Given the description of an element on the screen output the (x, y) to click on. 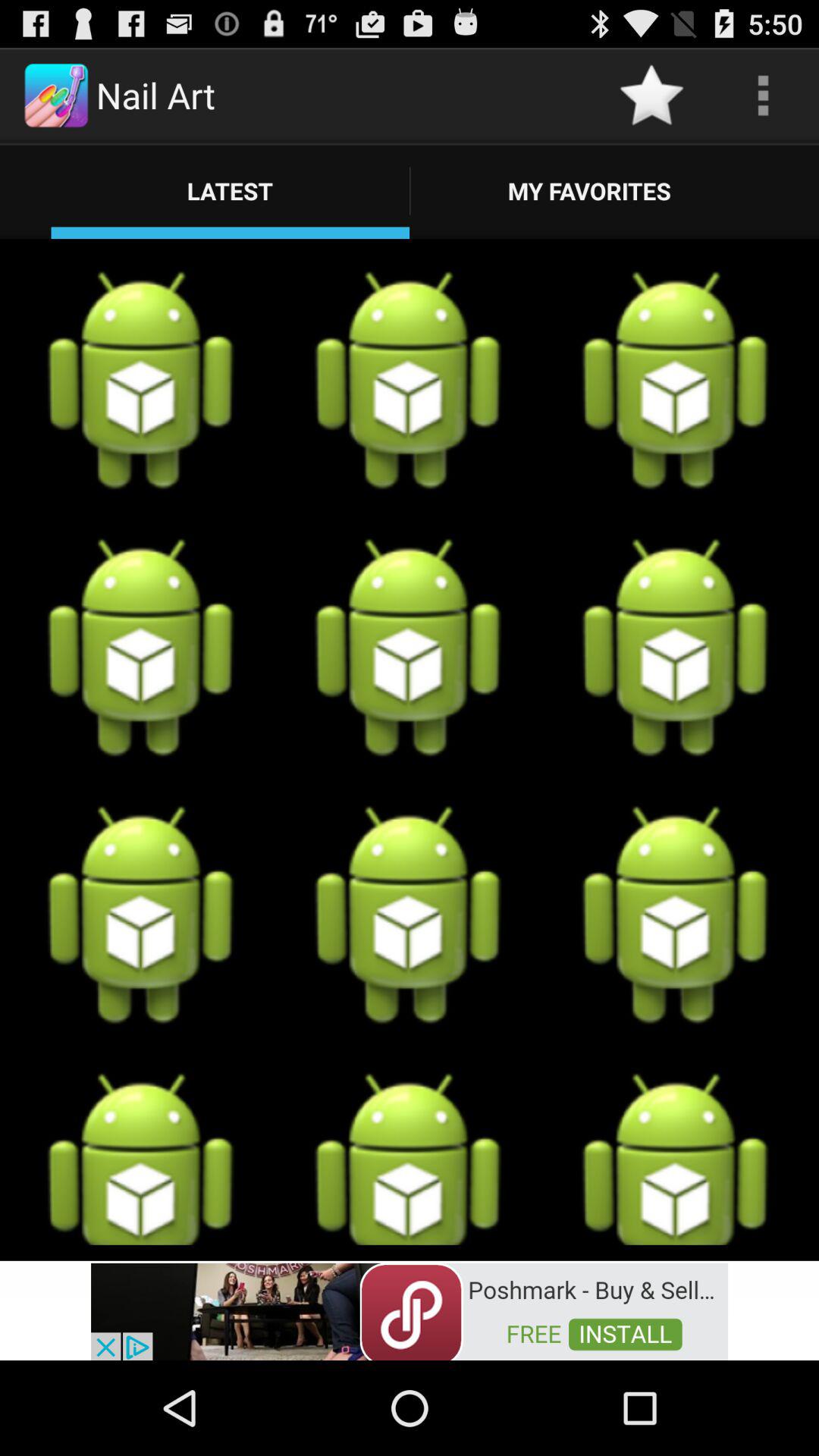
select the fourth android icon (141, 647)
select the second image from the below (408, 380)
select the last image from the latest (676, 1158)
select the 2nd android  in the 2nd row 2nd column (408, 647)
select the star icon which is on the top (651, 95)
click the option which is next to the star icon (763, 95)
